Given the description of an element on the screen output the (x, y) to click on. 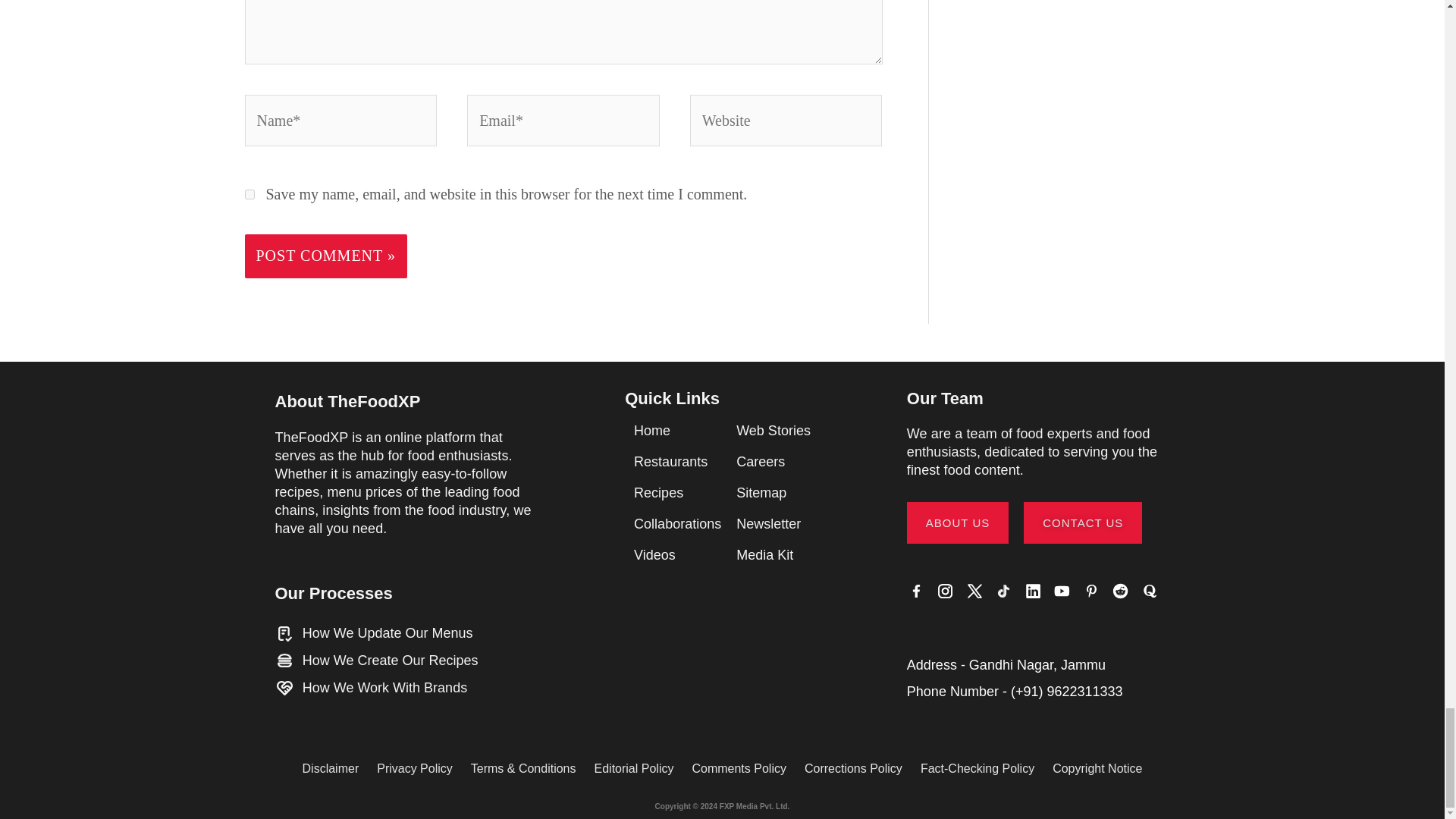
yes (248, 194)
